Given the description of an element on the screen output the (x, y) to click on. 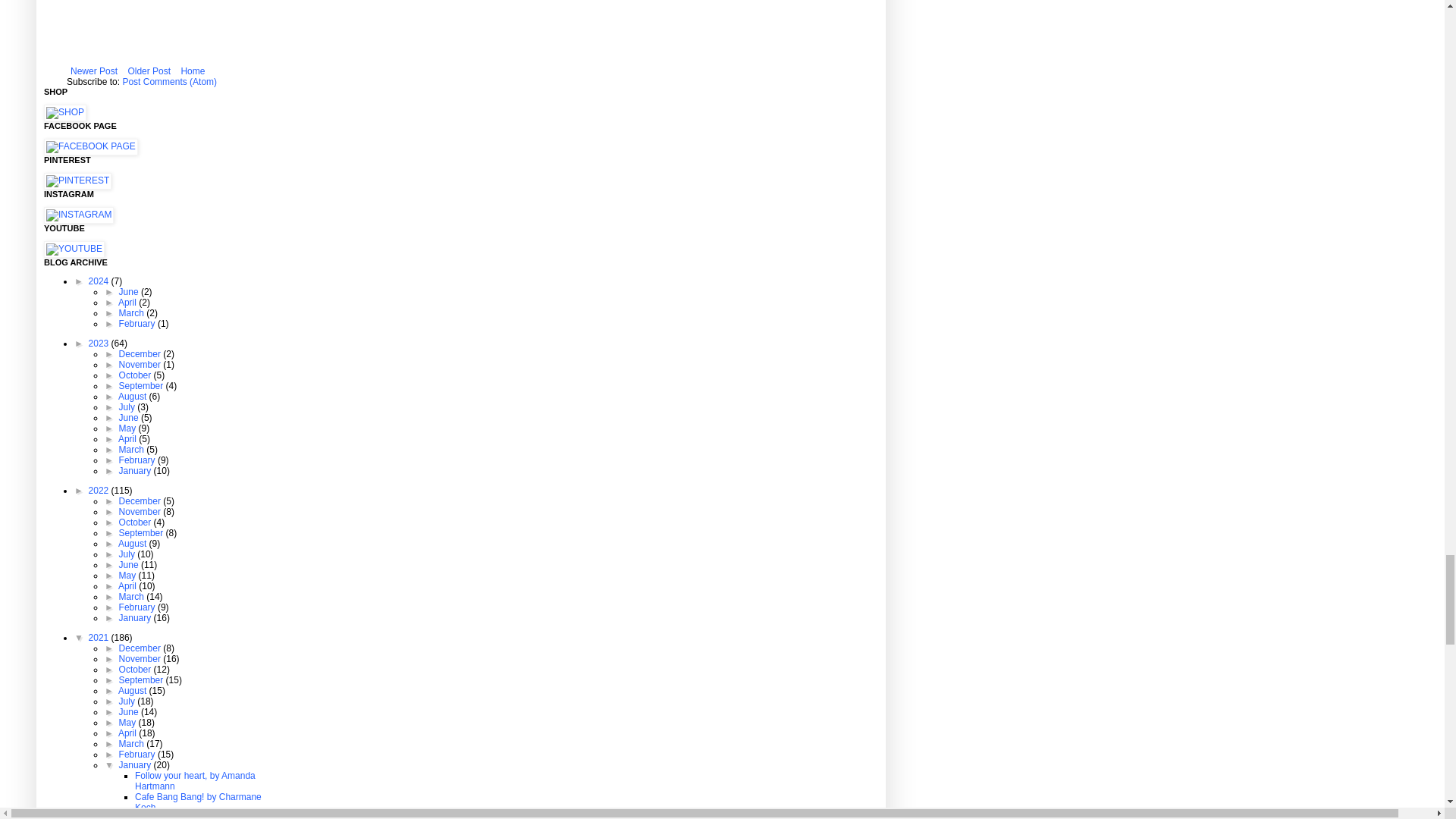
Newer Post (93, 71)
Home (192, 71)
Newer Post (93, 71)
Older Post (148, 71)
Older Post (148, 71)
